Given the description of an element on the screen output the (x, y) to click on. 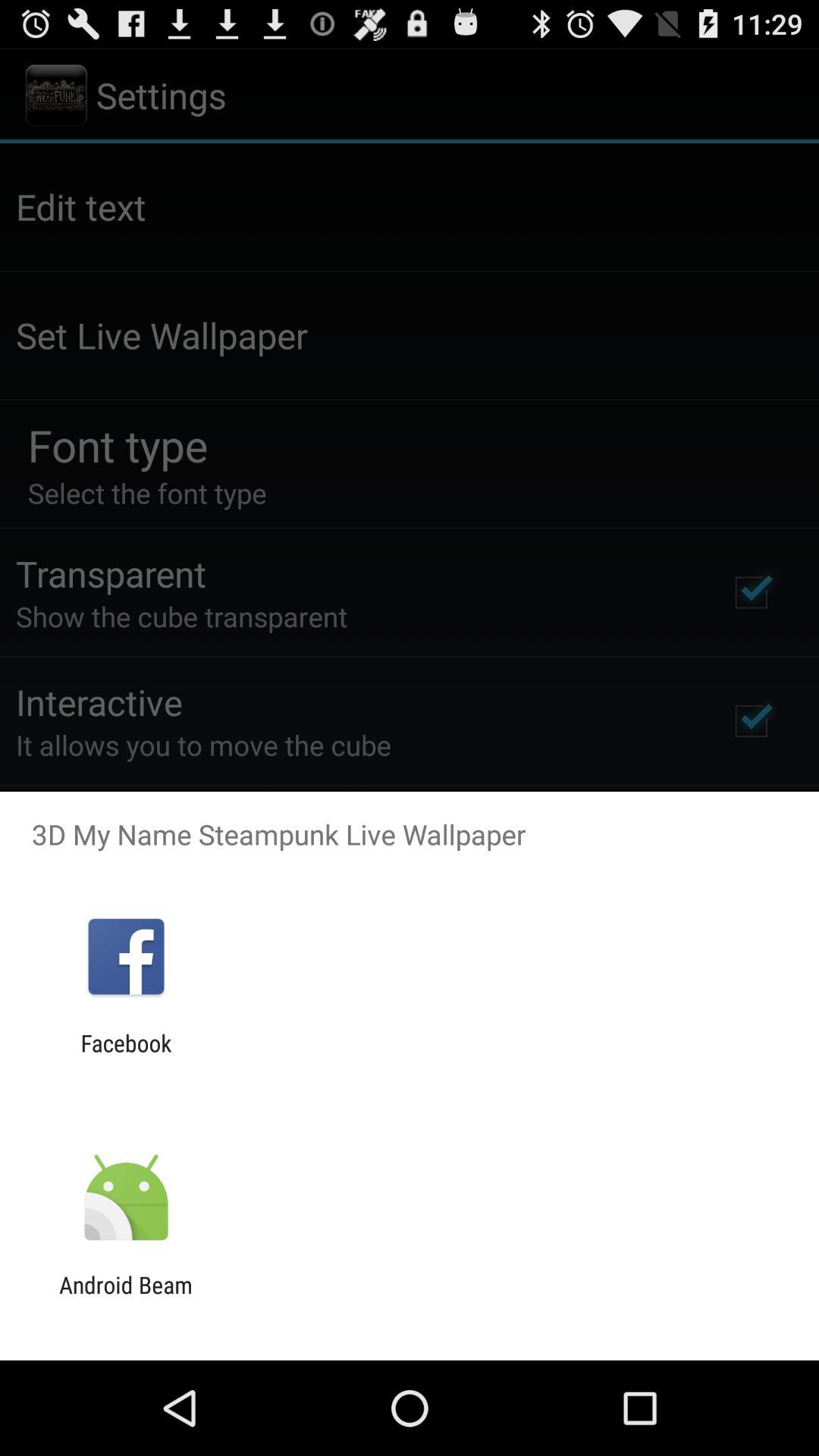
click android beam app (125, 1298)
